Given the description of an element on the screen output the (x, y) to click on. 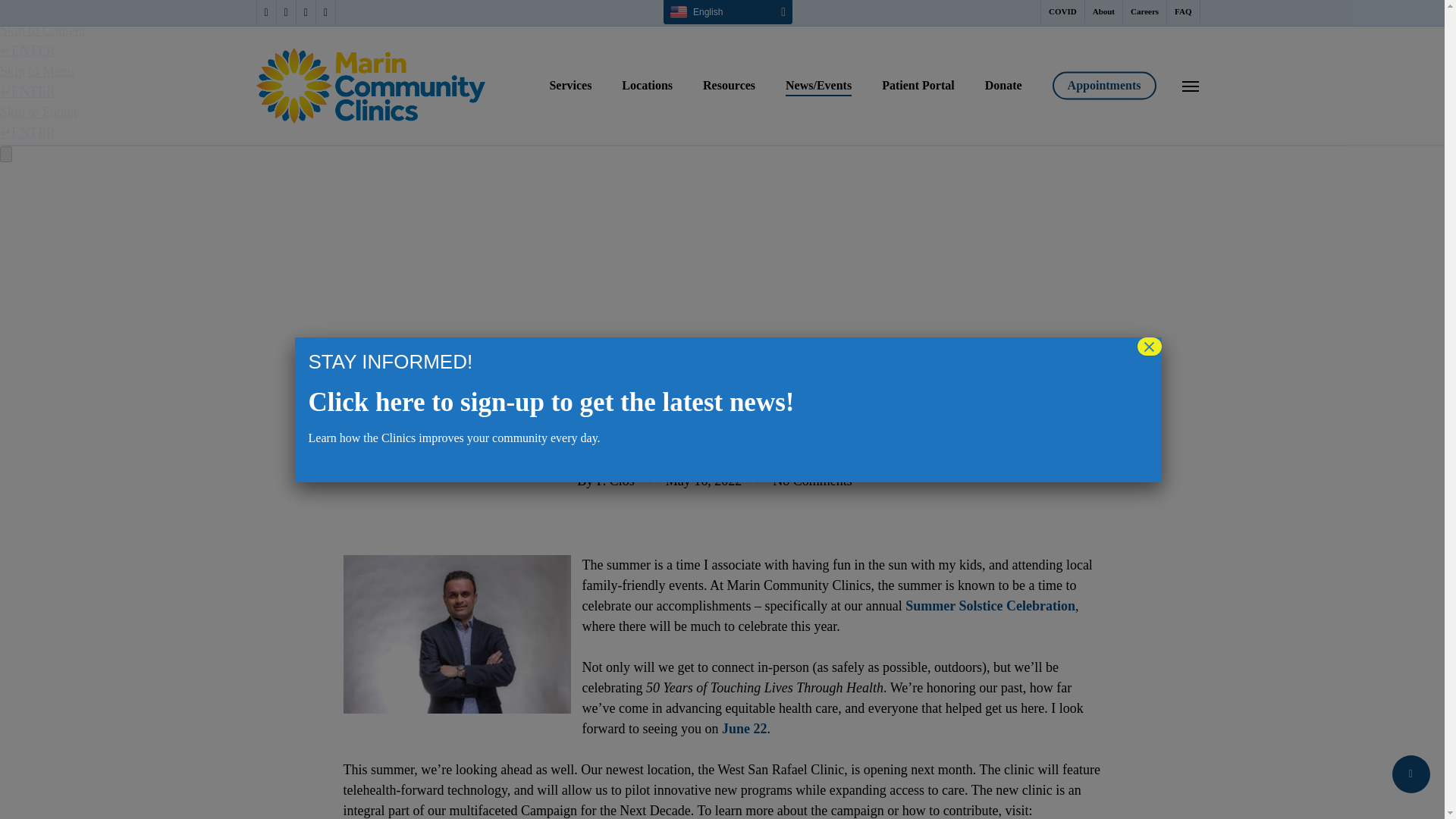
Locations (646, 85)
COVID (1062, 11)
Donate (1003, 85)
Posts by P. Clos (615, 480)
About (1103, 11)
Appointments (1104, 85)
P. Clos (615, 480)
Patient Portal (918, 85)
News (725, 375)
No Comments (812, 480)
June 22 (744, 728)
Resources (729, 85)
Summer Solstice Celebration (990, 605)
Careers (1144, 11)
Menu (1189, 85)
